Given the description of an element on the screen output the (x, y) to click on. 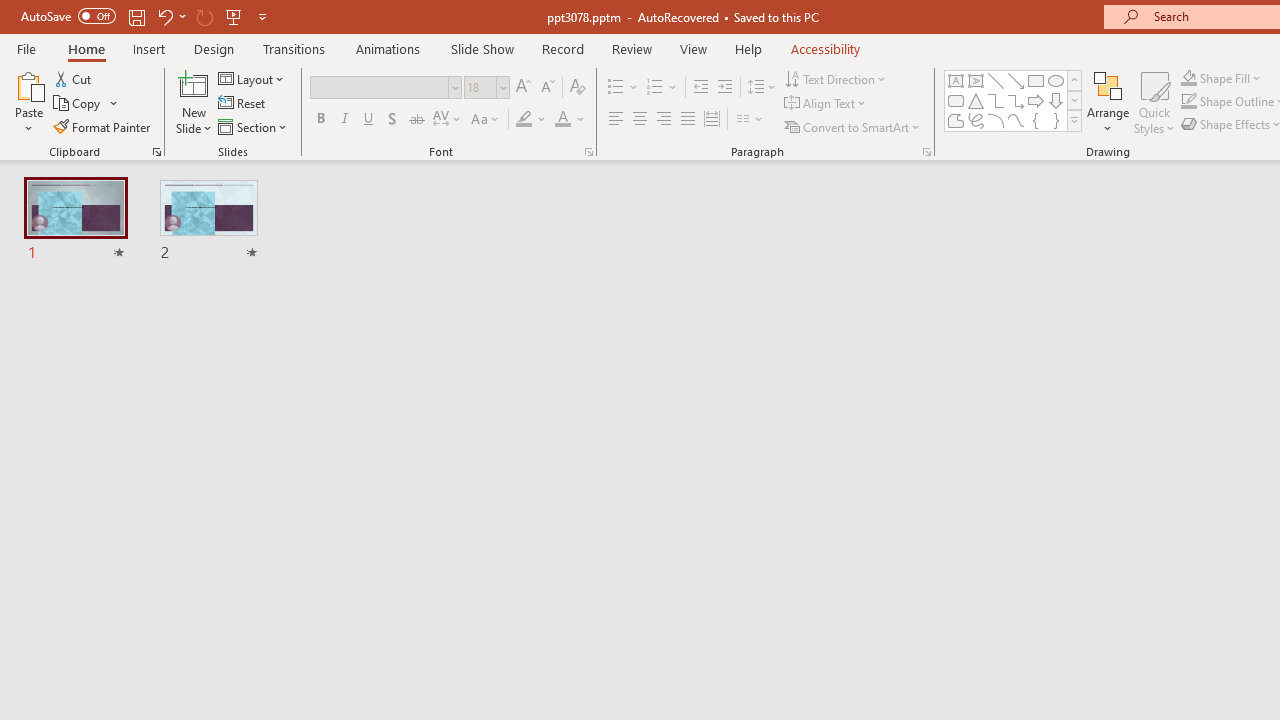
Align Left (616, 119)
Line Arrow (1016, 80)
Redo (204, 15)
Shape Fill (1221, 78)
Insert (149, 48)
Paragraph... (926, 151)
Rectangle: Rounded Corners (955, 100)
Design (214, 48)
From Beginning (234, 15)
Shadow (392, 119)
Underline (369, 119)
Font Size (480, 87)
Bullets (616, 87)
Text Direction (836, 78)
